Given the description of an element on the screen output the (x, y) to click on. 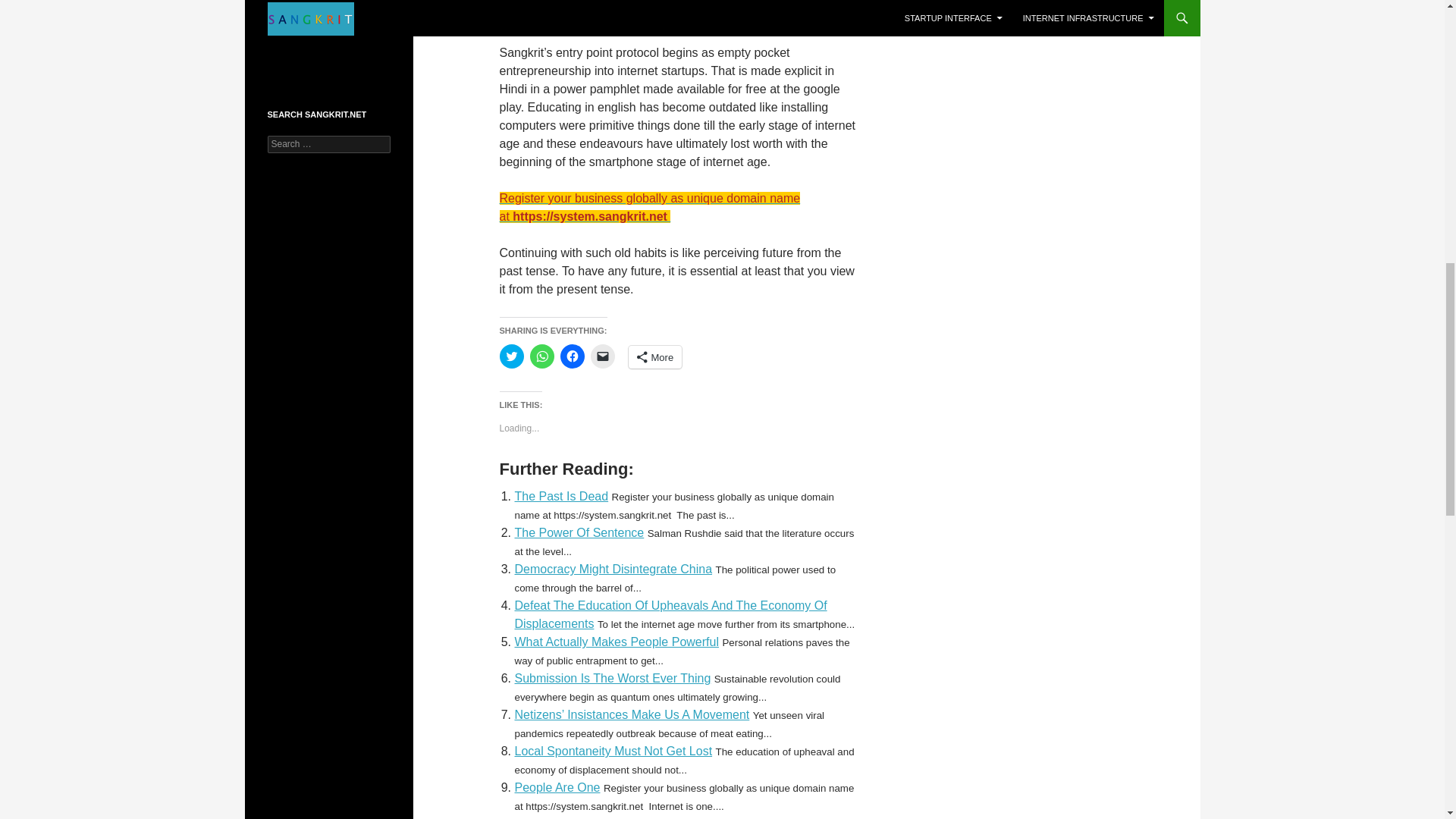
Click to share on WhatsApp (541, 355)
Click to share on Facebook (571, 355)
The Past Is Dead (560, 495)
The Power Of Sentence (578, 532)
Click to email a link to a friend (601, 355)
The Past Is Dead (560, 495)
More (654, 356)
Click to share on Twitter (510, 355)
